Given the description of an element on the screen output the (x, y) to click on. 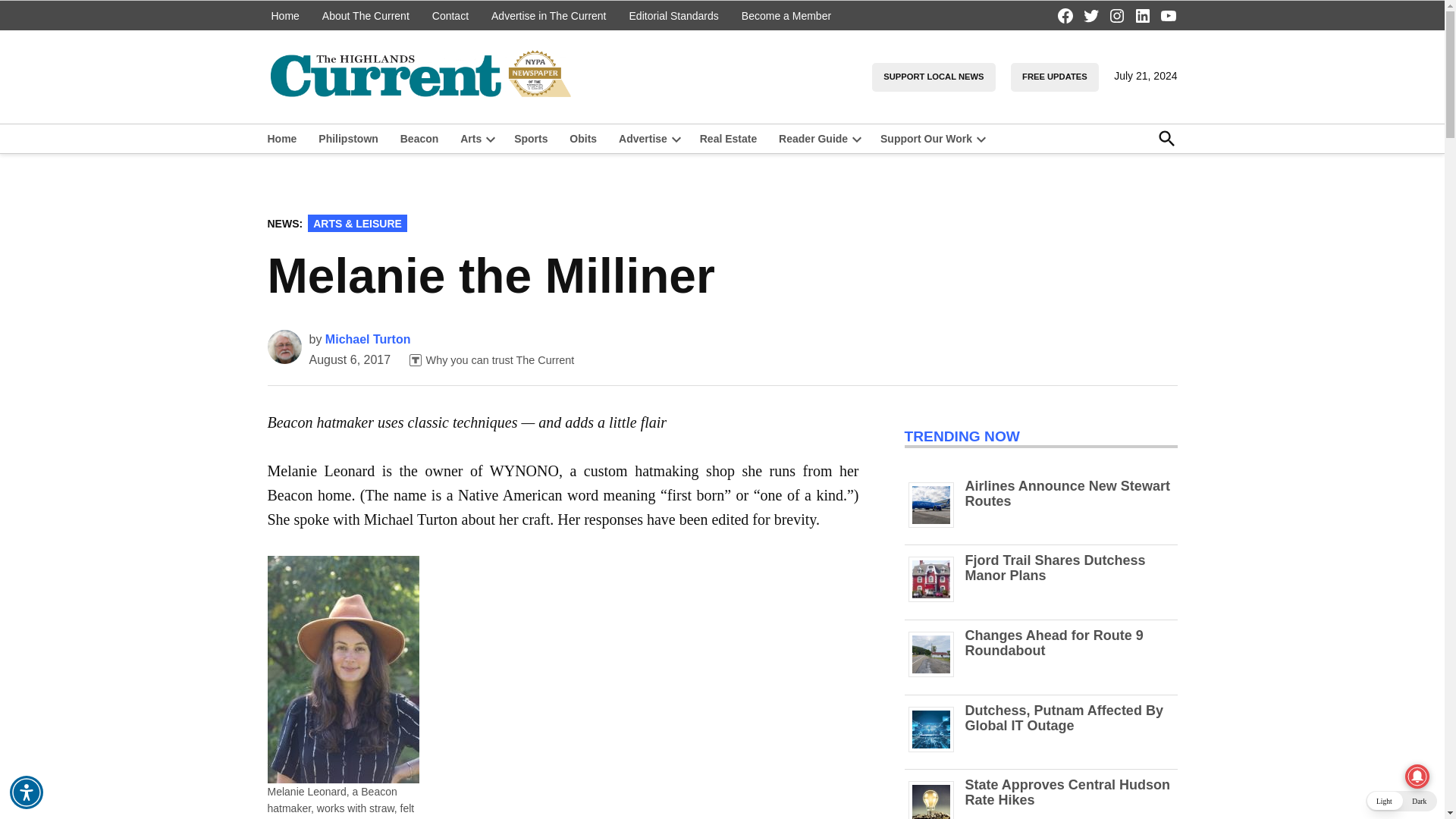
Fjord Trail Shares Dutchess Manor Plans (936, 601)
Airlines Announce New Stewart Routes (1066, 493)
Airlines Announce New Stewart Routes (936, 526)
Fjord Trail Shares Dutchess Manor Plans (1053, 567)
Changes Ahead for Route 9 Roundabout (936, 676)
Changes Ahead for Route 9 Roundabout (1052, 643)
Dutchess, Putnam Affected By Global IT Outage (936, 751)
State Approves Central Hudson Rate Hikes (1066, 792)
Accessibility Menu (26, 792)
Dutchess, Putnam Affected By Global IT Outage (1062, 717)
